Given the description of an element on the screen output the (x, y) to click on. 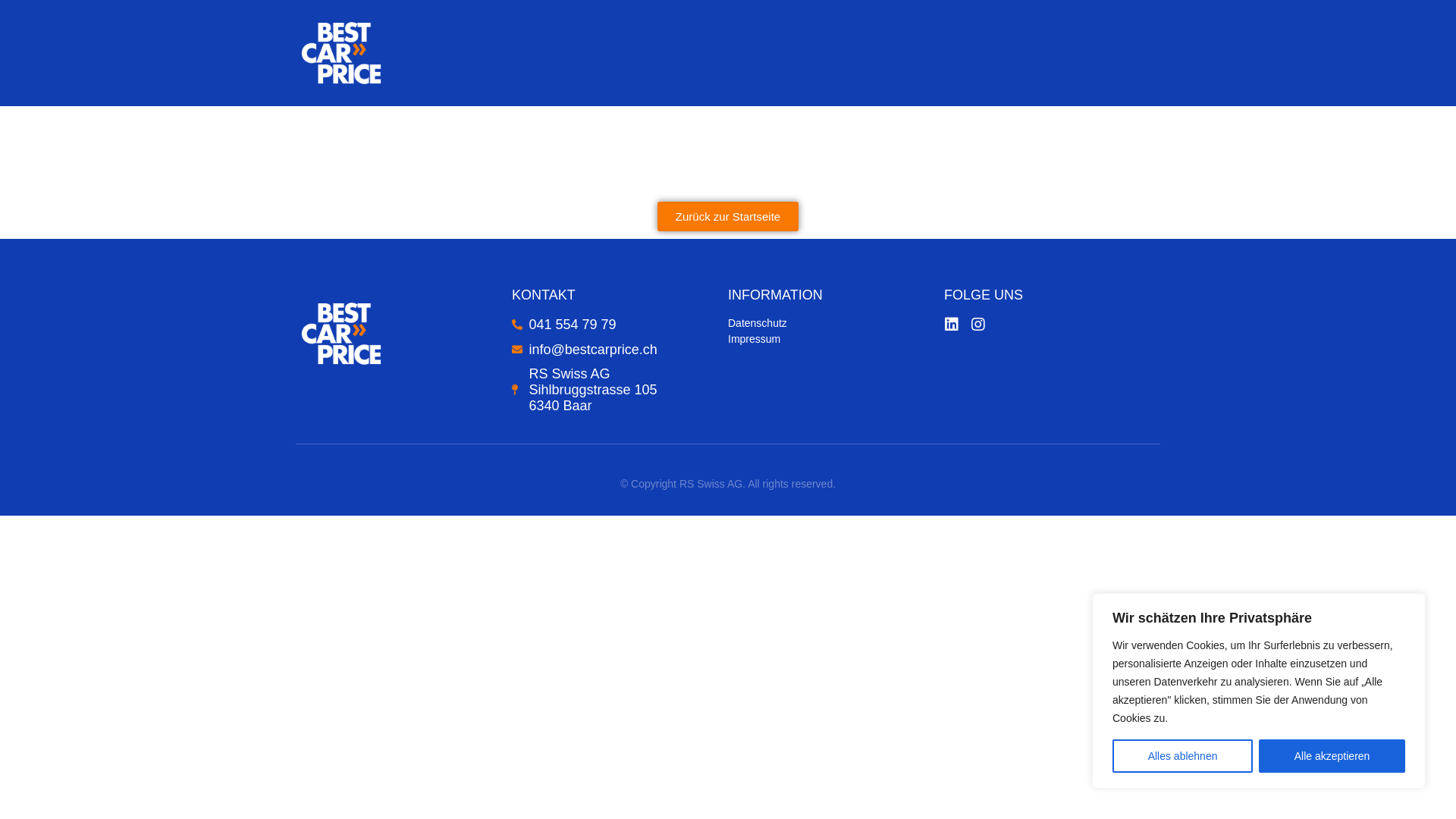
041 554 79 79 Element type: text (619, 324)
info@bestcarprice.ch Element type: text (619, 349)
Datenschutz Element type: text (836, 322)
Alle akzeptieren Element type: text (1331, 755)
Impressum Element type: text (836, 338)
Alles ablehnen Element type: text (1182, 755)
